Given the description of an element on the screen output the (x, y) to click on. 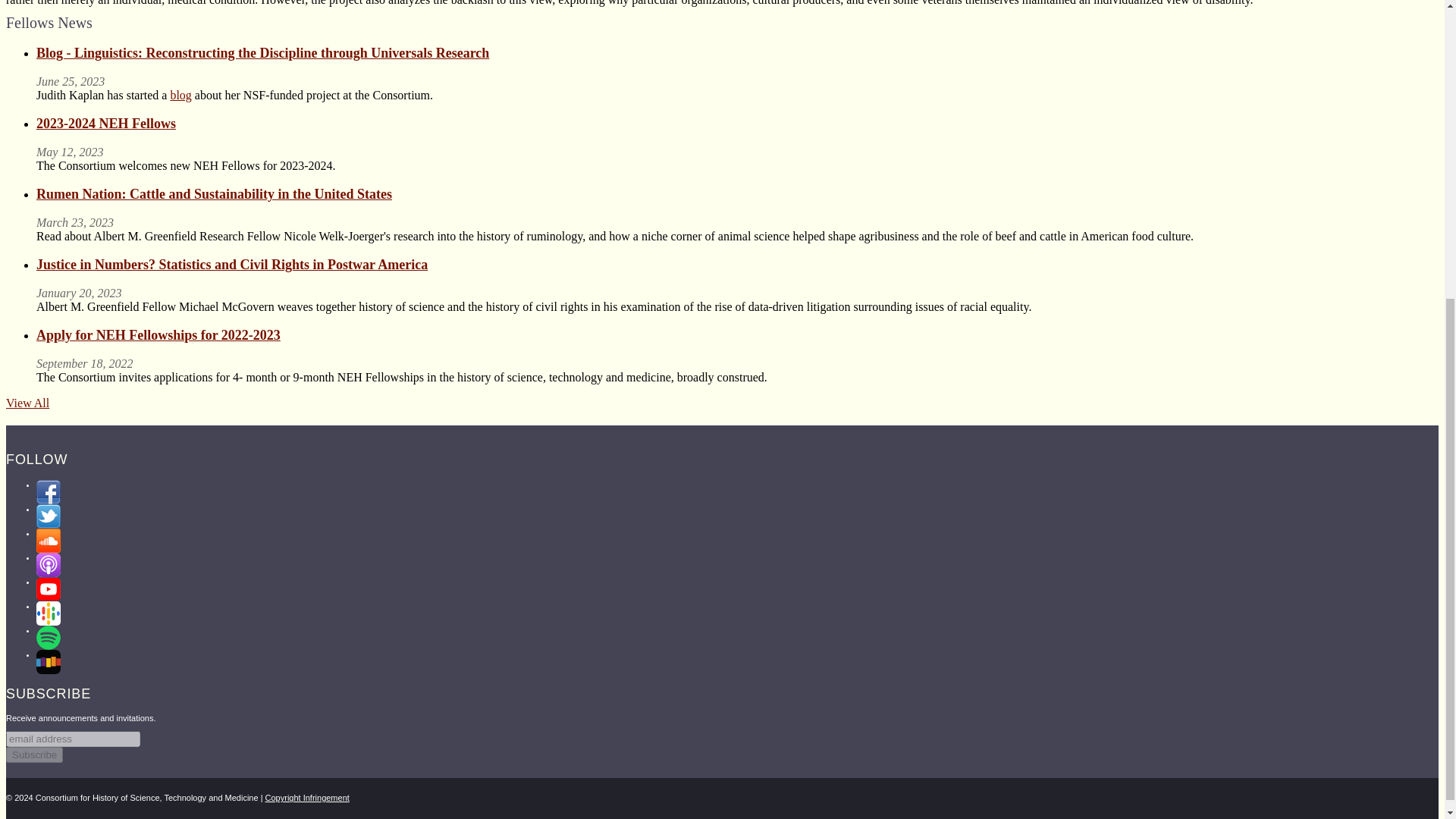
Apply for NEH Fellowships for 2022-2023 (158, 335)
Follow on twitter (48, 516)
Subscribe (33, 754)
blog (180, 94)
Follow on spotify (48, 637)
2023-2024 NEH Fellows (106, 123)
Follow on facebook (48, 491)
Rumen Nation: Cattle and Sustainability in the United States (213, 193)
Follow on apple (48, 564)
View All (27, 402)
Follow on youtube (48, 589)
Follow on soundcloud (48, 540)
Copyright Infringement (306, 797)
